Given the description of an element on the screen output the (x, y) to click on. 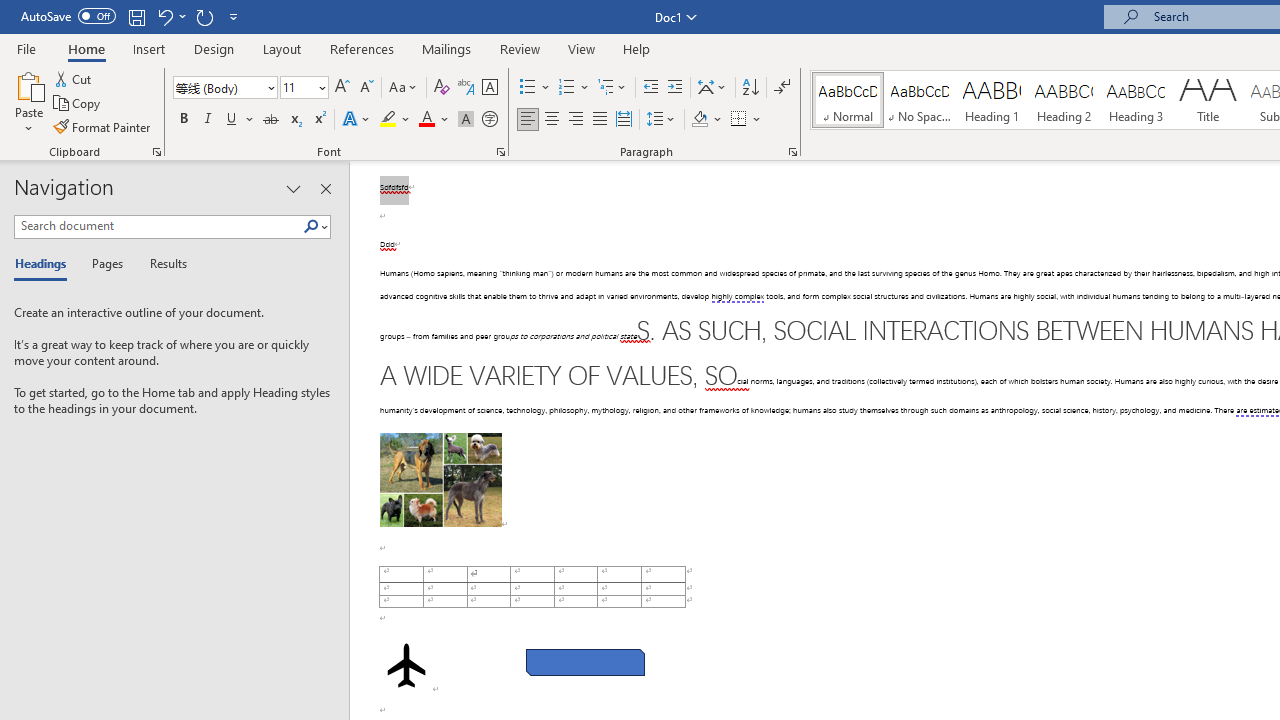
Distributed (623, 119)
Numbering (566, 87)
Undo Apply Quick Style (164, 15)
Font (218, 87)
Text Highlight Color (395, 119)
Office Clipboard... (156, 151)
Line and Paragraph Spacing (661, 119)
Quick Access Toolbar (131, 16)
Shading RGB(0, 0, 0) (699, 119)
Help (637, 48)
Rectangle: Diagonal Corners Snipped 2 (585, 662)
Shading (706, 119)
Morphological variation in six dogs (440, 479)
